Given the description of an element on the screen output the (x, y) to click on. 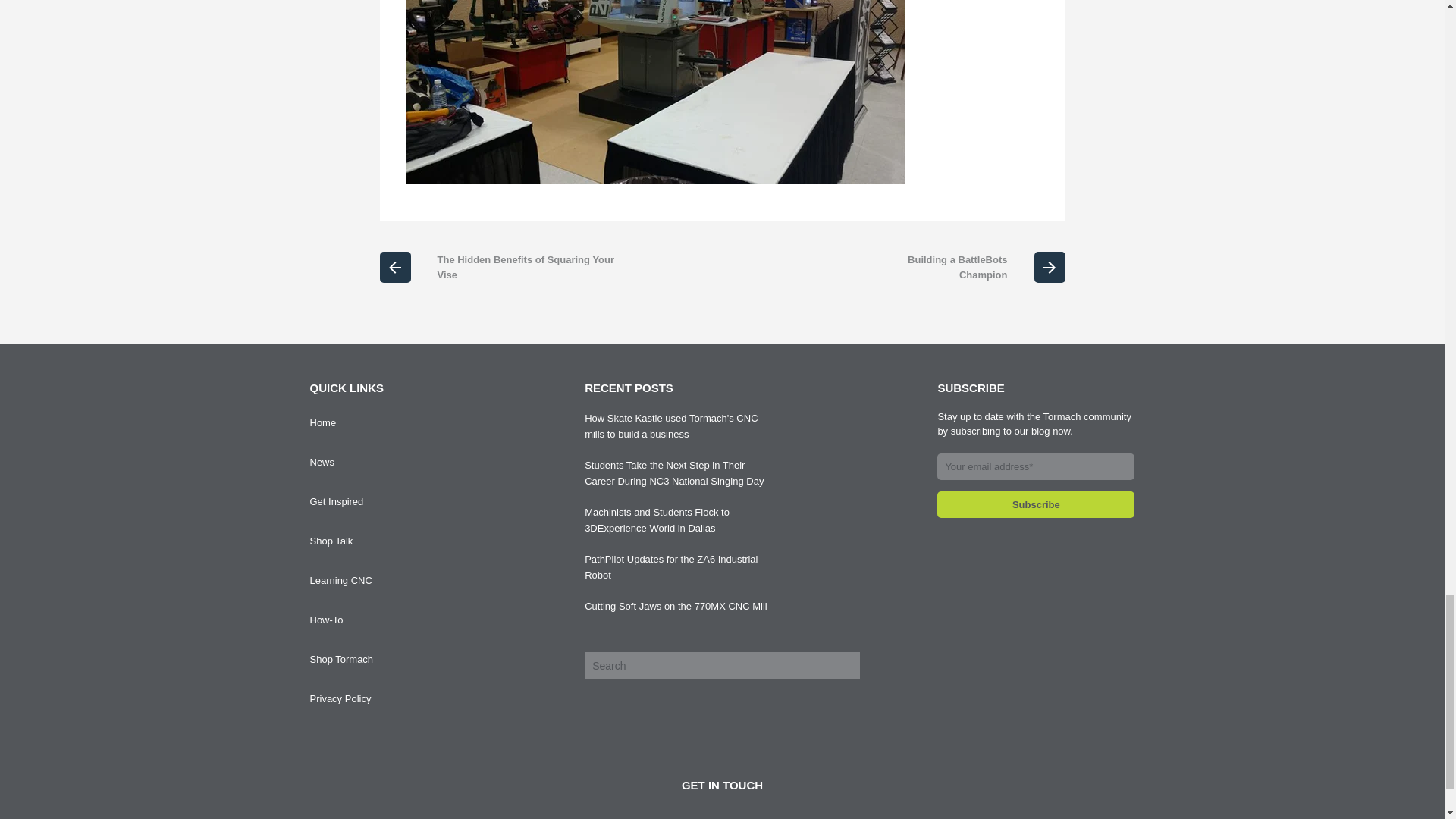
Subscribe (1035, 504)
